Given the description of an element on the screen output the (x, y) to click on. 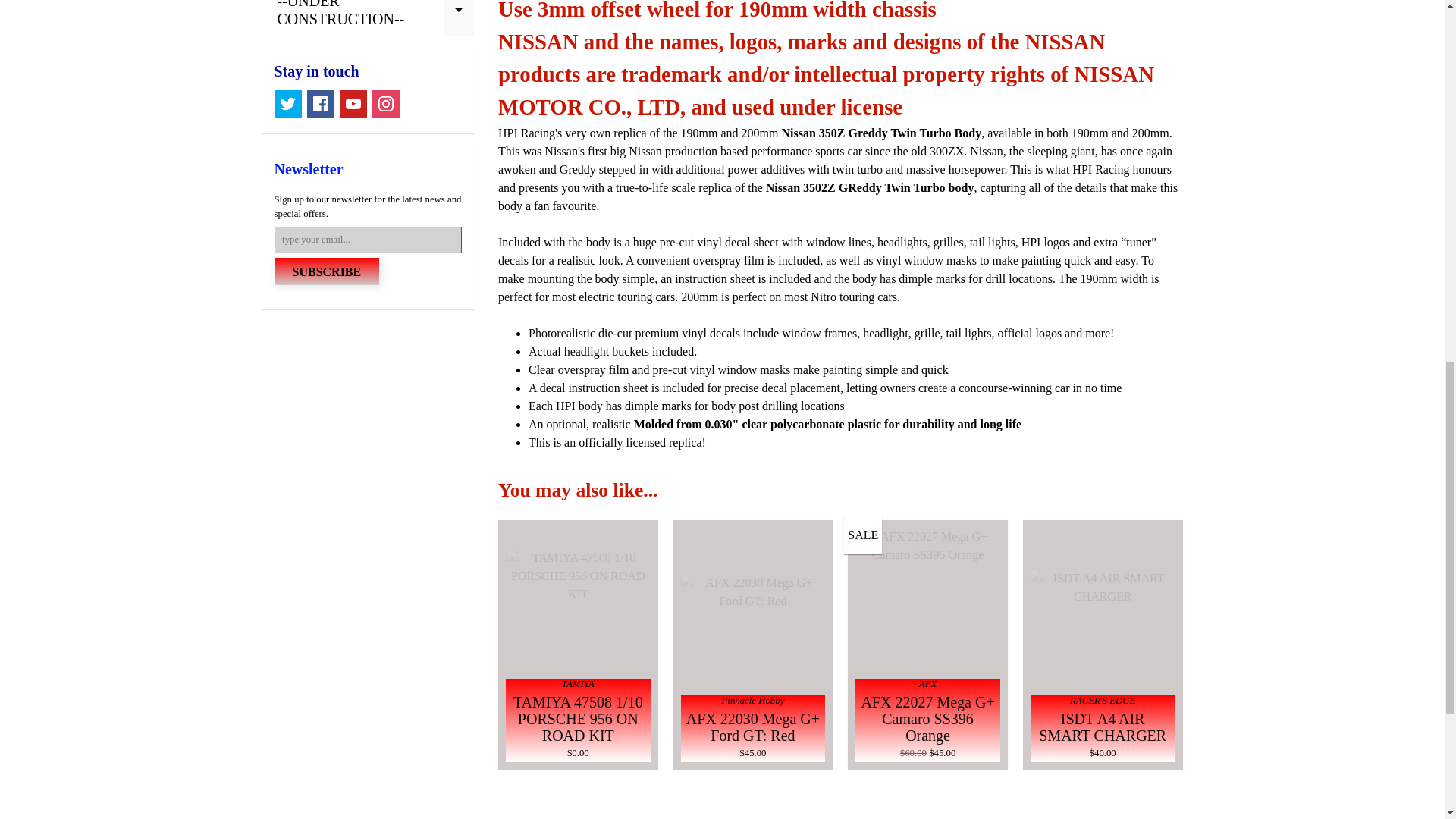
Instagram (384, 103)
Twitter (288, 103)
Our brands (839, 804)
Youtube (352, 103)
Facebook (319, 103)
